Given the description of an element on the screen output the (x, y) to click on. 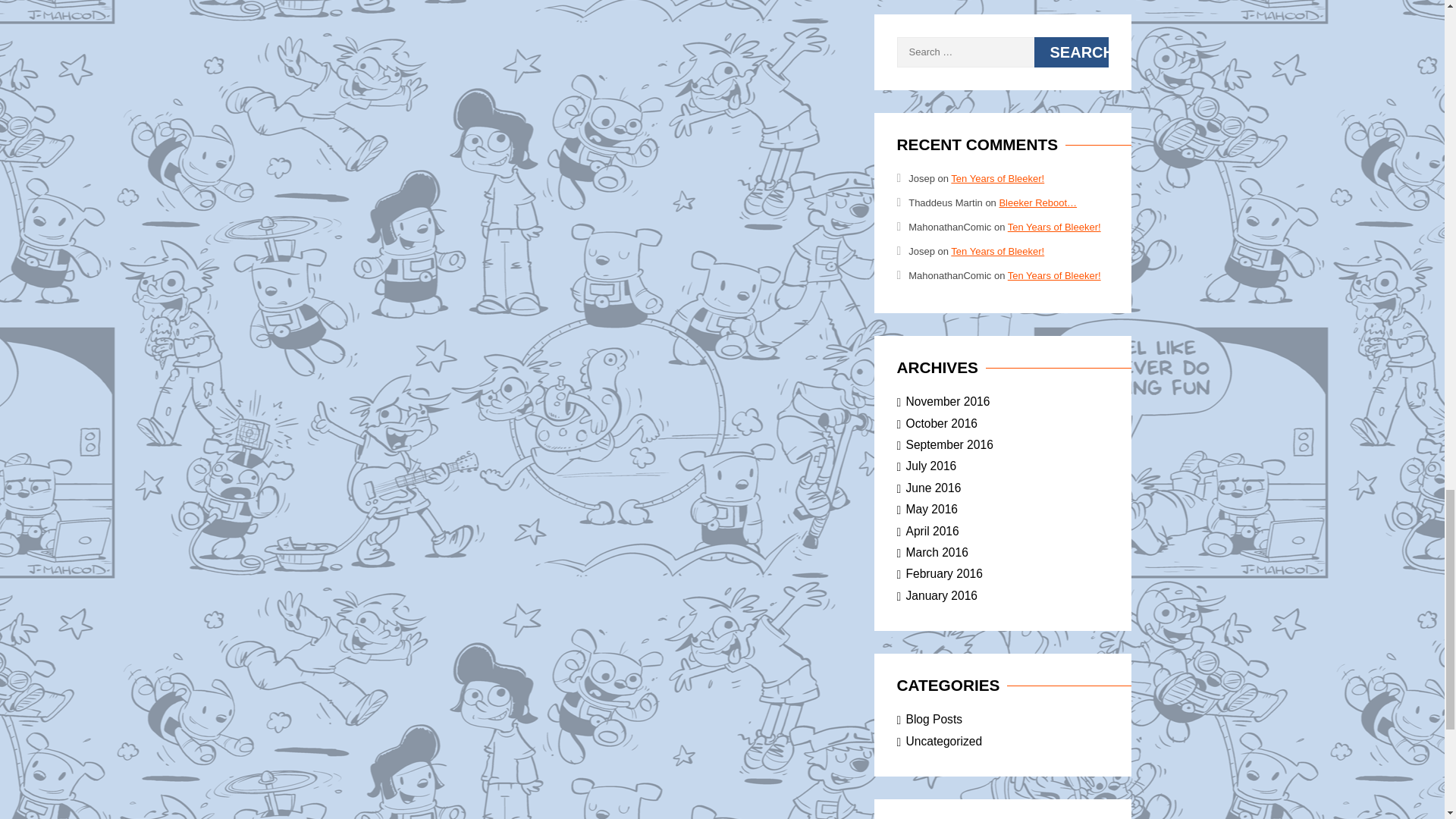
Ten Years of Bleeker! (996, 178)
Ten Years of Bleeker! (1053, 226)
October 2016 (940, 422)
Search (1070, 51)
Ten Years of Bleeker! (1053, 275)
Search (1070, 51)
Search (1070, 51)
Ten Years of Bleeker! (996, 251)
November 2016 (947, 400)
